Given the description of an element on the screen output the (x, y) to click on. 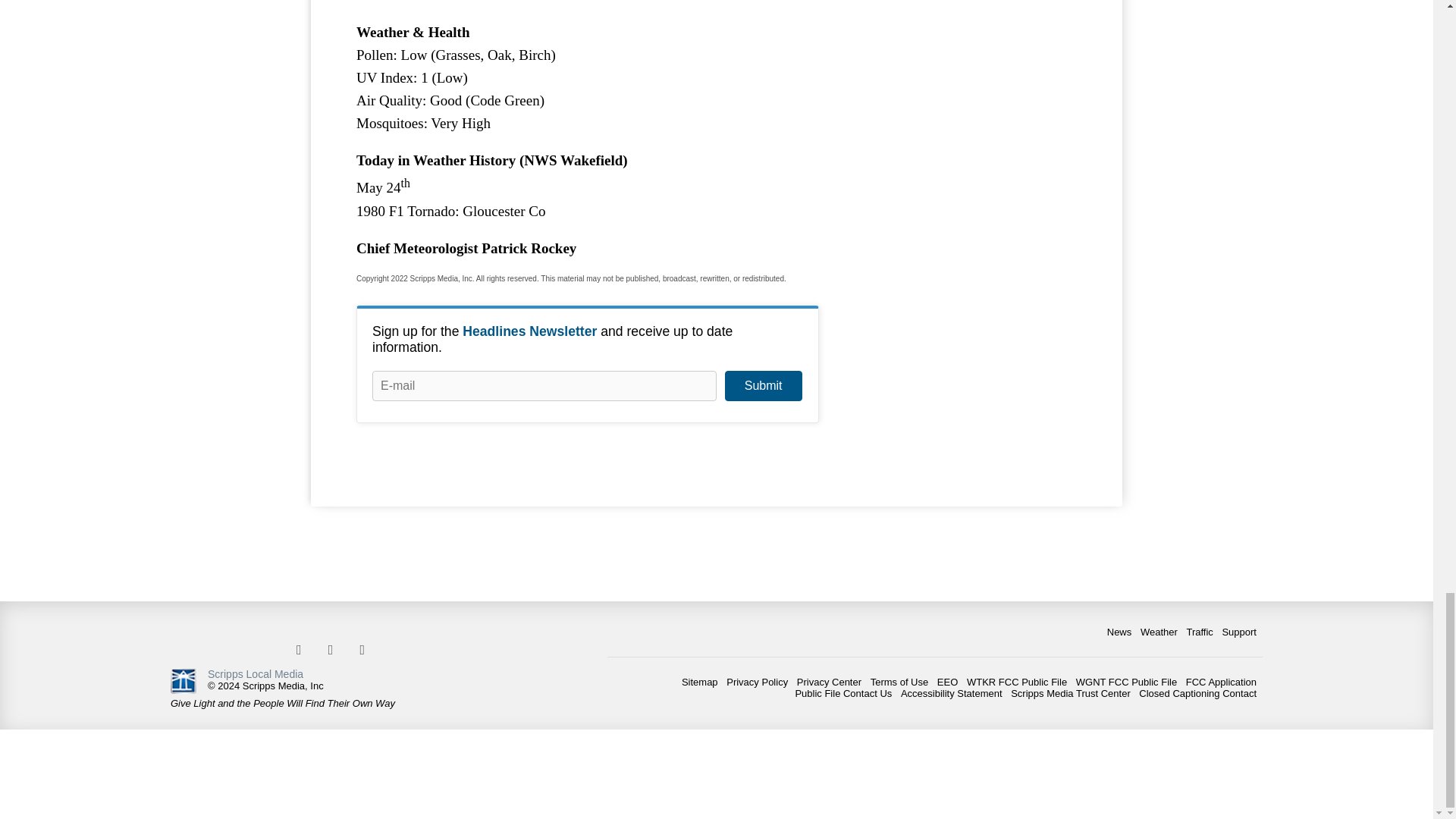
Submit (763, 386)
